Given the description of an element on the screen output the (x, y) to click on. 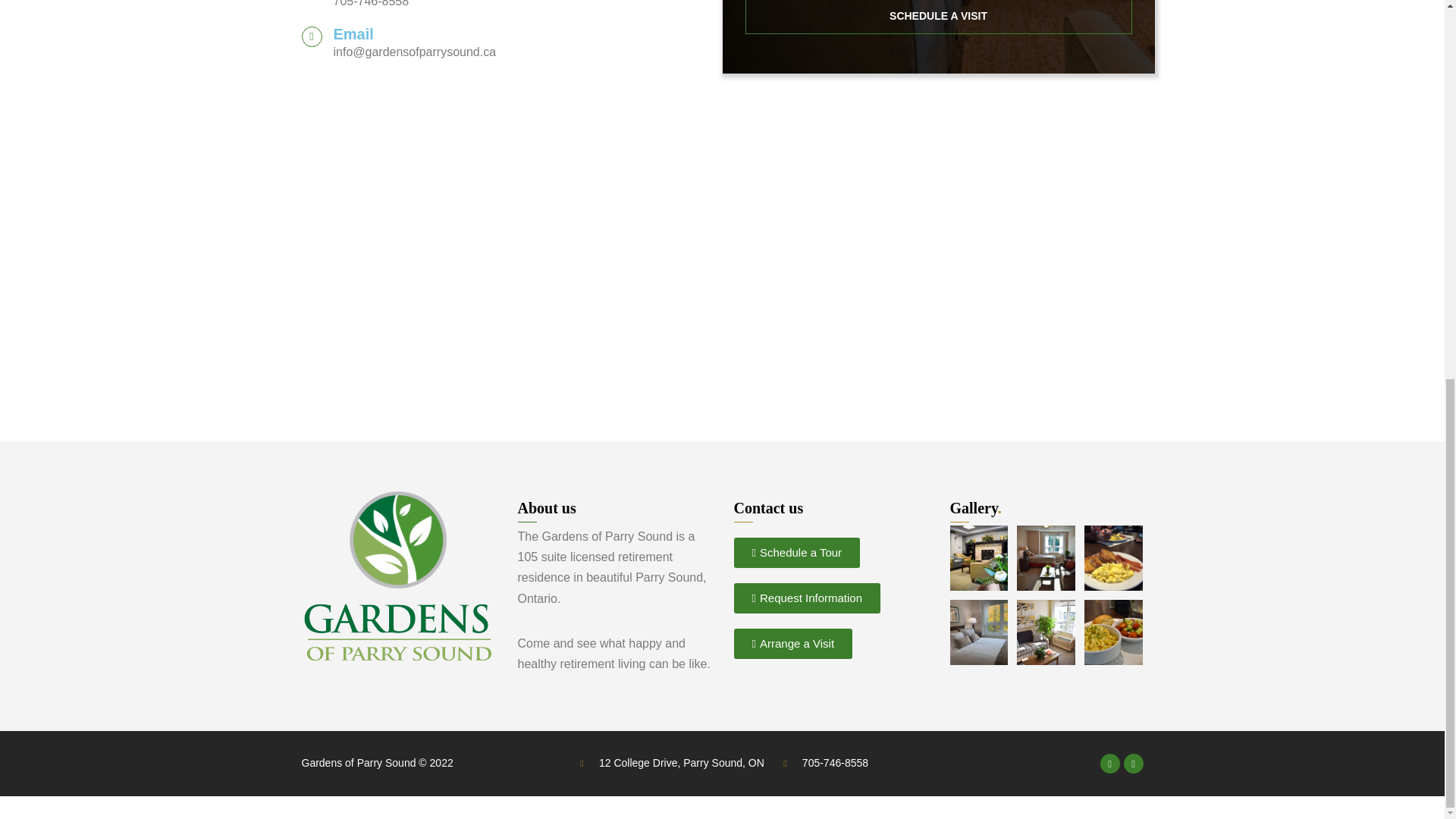
Schedule a Tour (796, 552)
Email (353, 33)
Request Information (806, 598)
Arrange a Visit (793, 643)
Schedule a Visit (937, 18)
Schedule a Visit (937, 17)
